Given the description of an element on the screen output the (x, y) to click on. 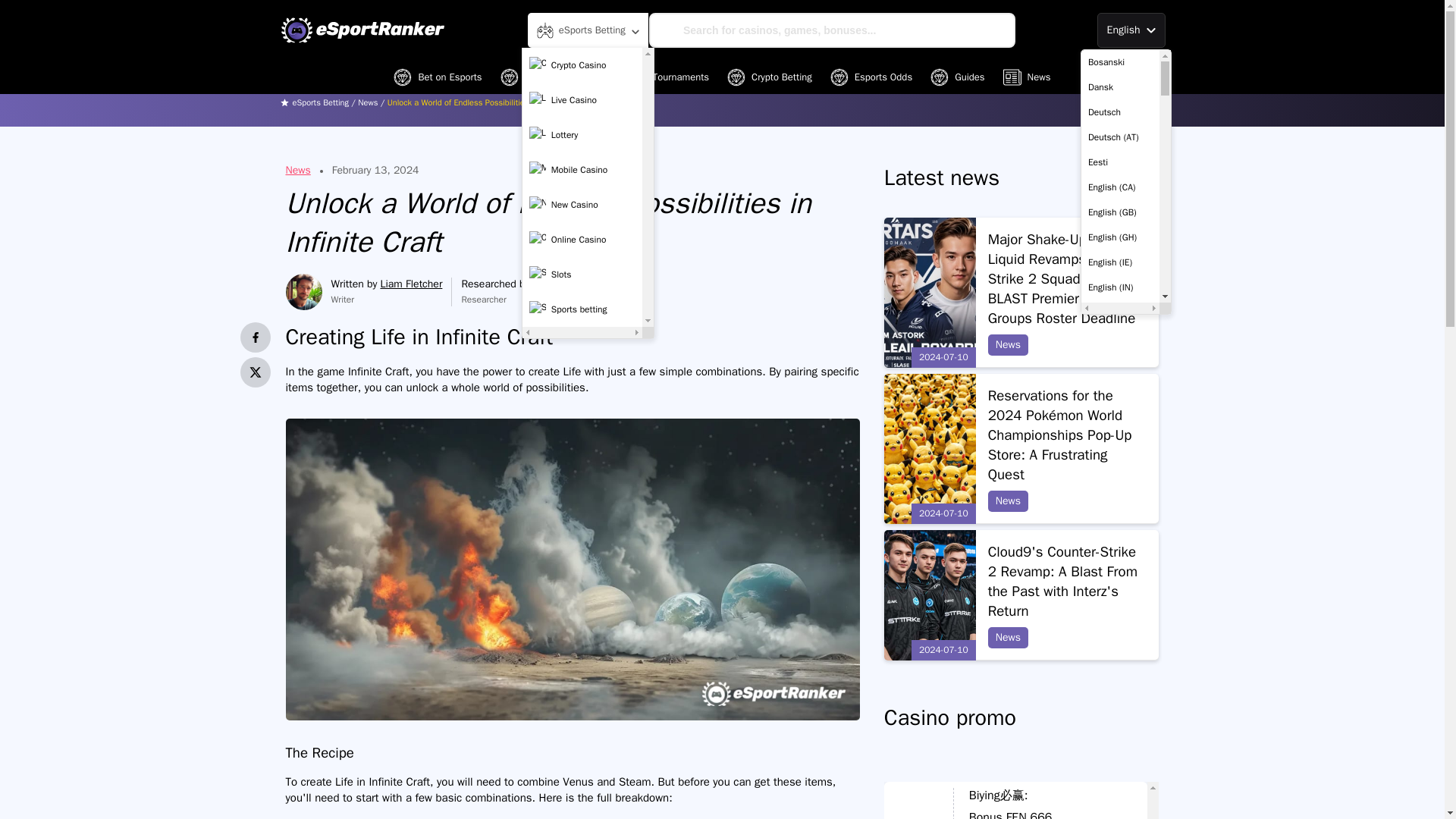
Online Casino (582, 239)
Sports betting (582, 308)
Deutsch (1120, 112)
Slots (582, 274)
Lottery (582, 134)
Crypto Casino (582, 64)
Eesti (1120, 162)
Live Casino (582, 99)
Dansk (1120, 87)
Mobile Casino (582, 169)
Bosanski (1120, 62)
New Casino (582, 204)
